Given the description of an element on the screen output the (x, y) to click on. 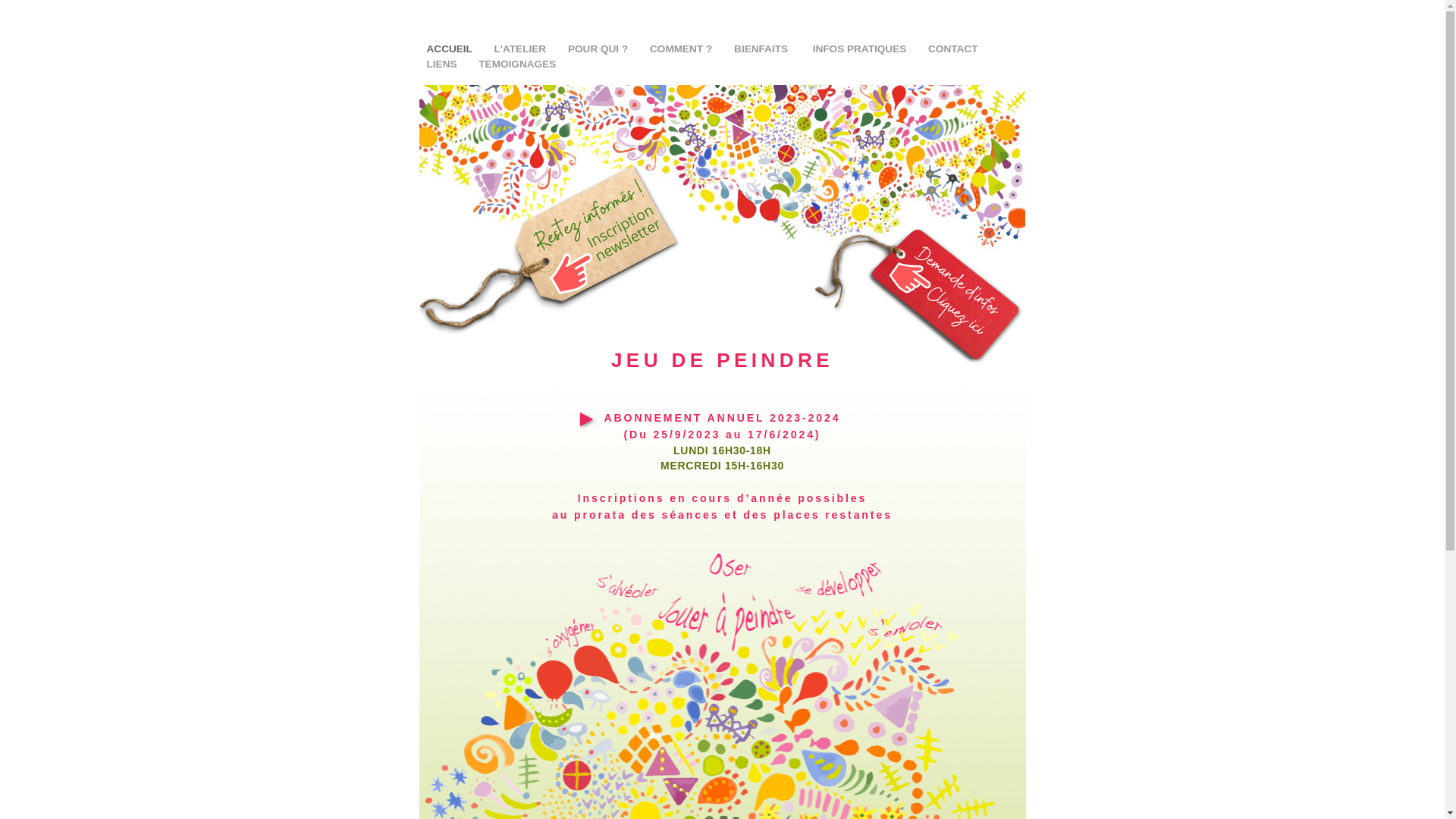
CONTACT Element type: text (952, 48)
https://forms.gle/japbFjFYWUAguFsb9 Element type: hover (553, 350)
L'ATELIER Element type: text (520, 48)
INFOS PRATIQUES Element type: text (860, 48)
https://goo.gl/forms/yX5OlOFUaWSBhhKA2 Element type: hover (918, 373)
COMMENT ? Element type: text (682, 48)
TEMOIGNAGES Element type: text (516, 63)
ACCUEIL Element type: text (450, 48)
POUR QUI ? Element type: text (598, 48)
BIENFAITS  Element type: text (763, 48)
LIENS Element type: text (442, 63)
